Given the description of an element on the screen output the (x, y) to click on. 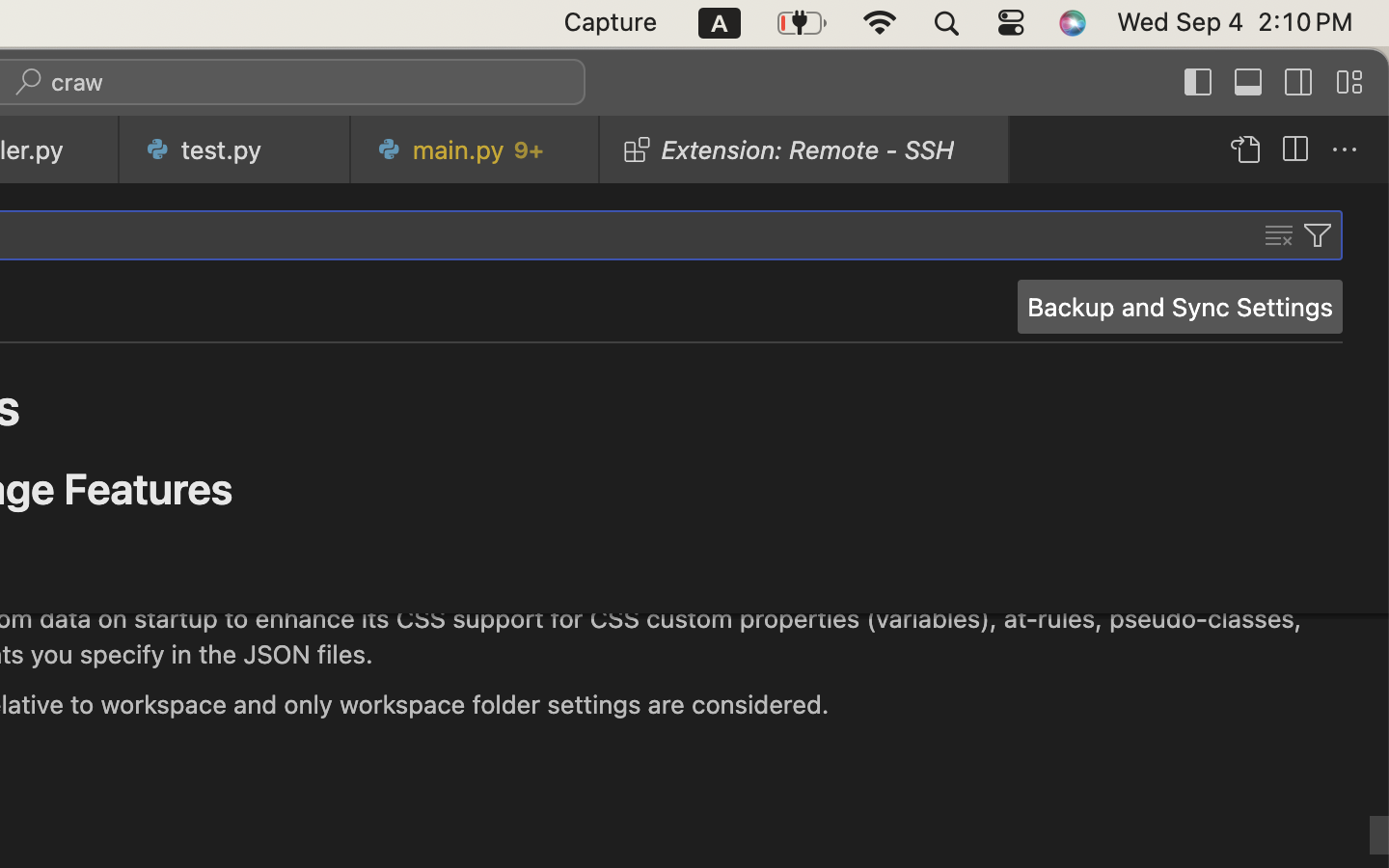
 Element type: AXStaticText (1317, 234)
0 test.py   Element type: AXRadioButton (235, 149)
0 Extension: Remote - SSH   Element type: AXRadioButton (804, 149)
 Element type: AXButton (1294, 150)
custom data format Element type: AXStaticText (602, 567)
